Given the description of an element on the screen output the (x, y) to click on. 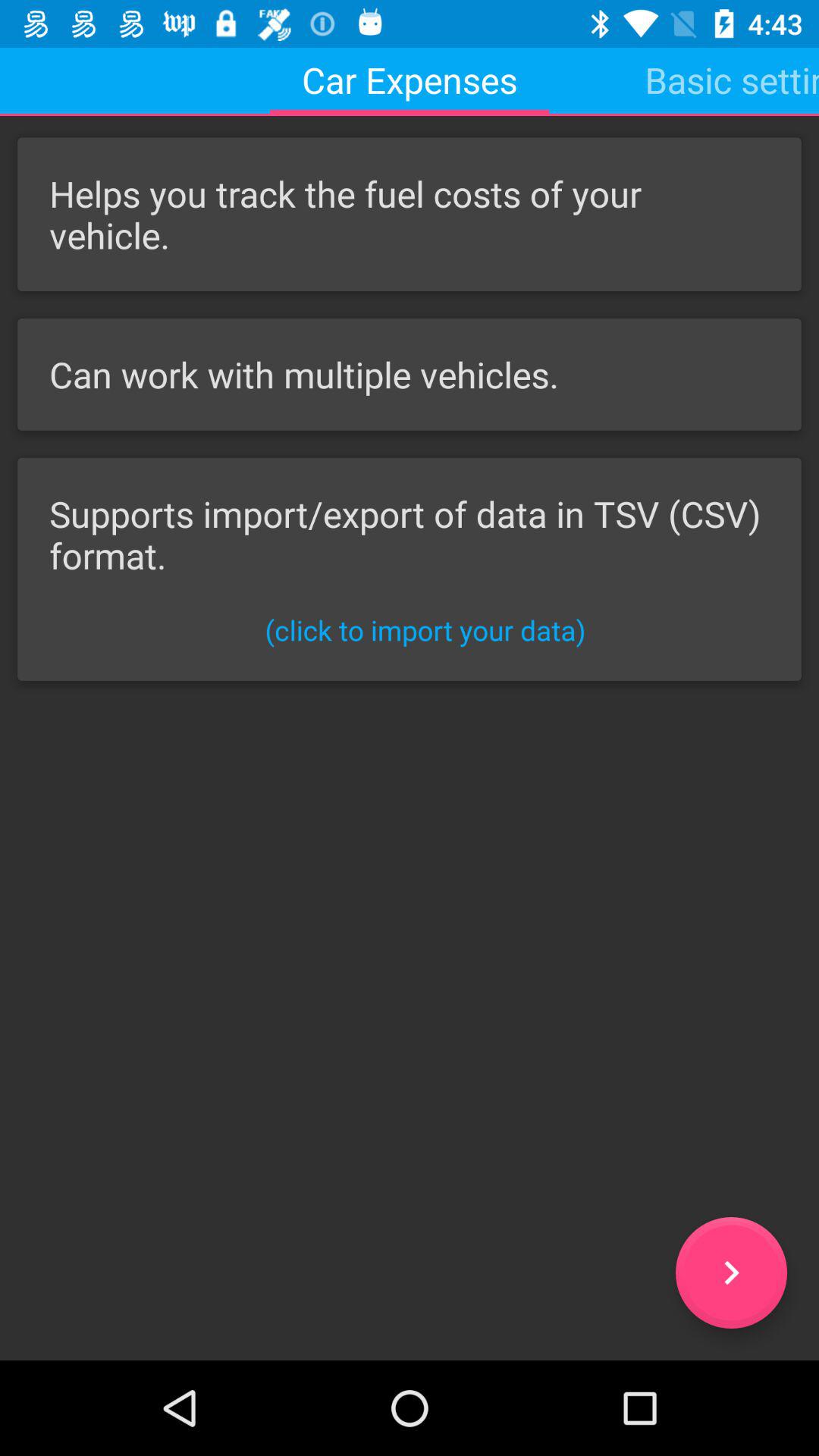
jump to click to import (425, 629)
